Given the description of an element on the screen output the (x, y) to click on. 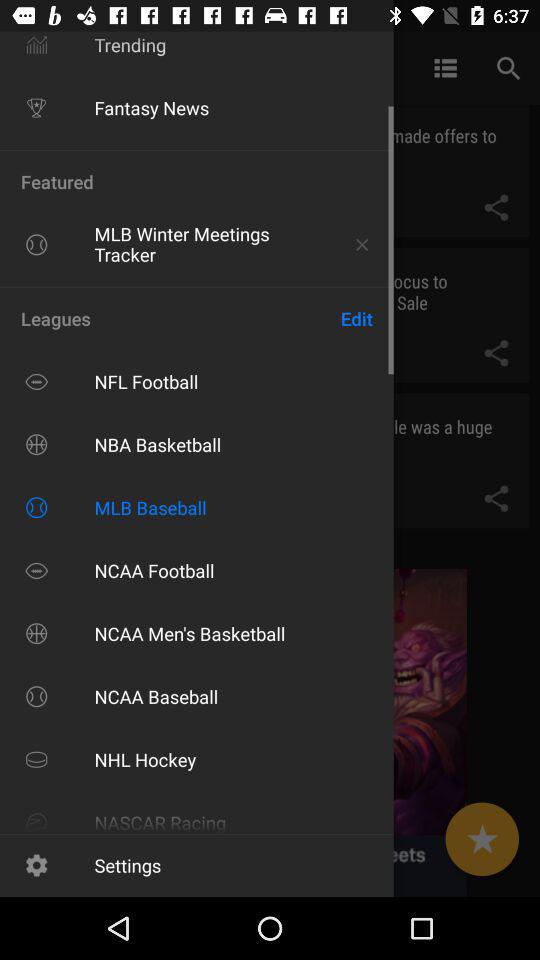
select the share icon (496, 353)
click on the logo of ncaa baseball (36, 696)
click on the icon which is beside the text nba basketball (36, 444)
select the text edit (357, 318)
